Given the description of an element on the screen output the (x, y) to click on. 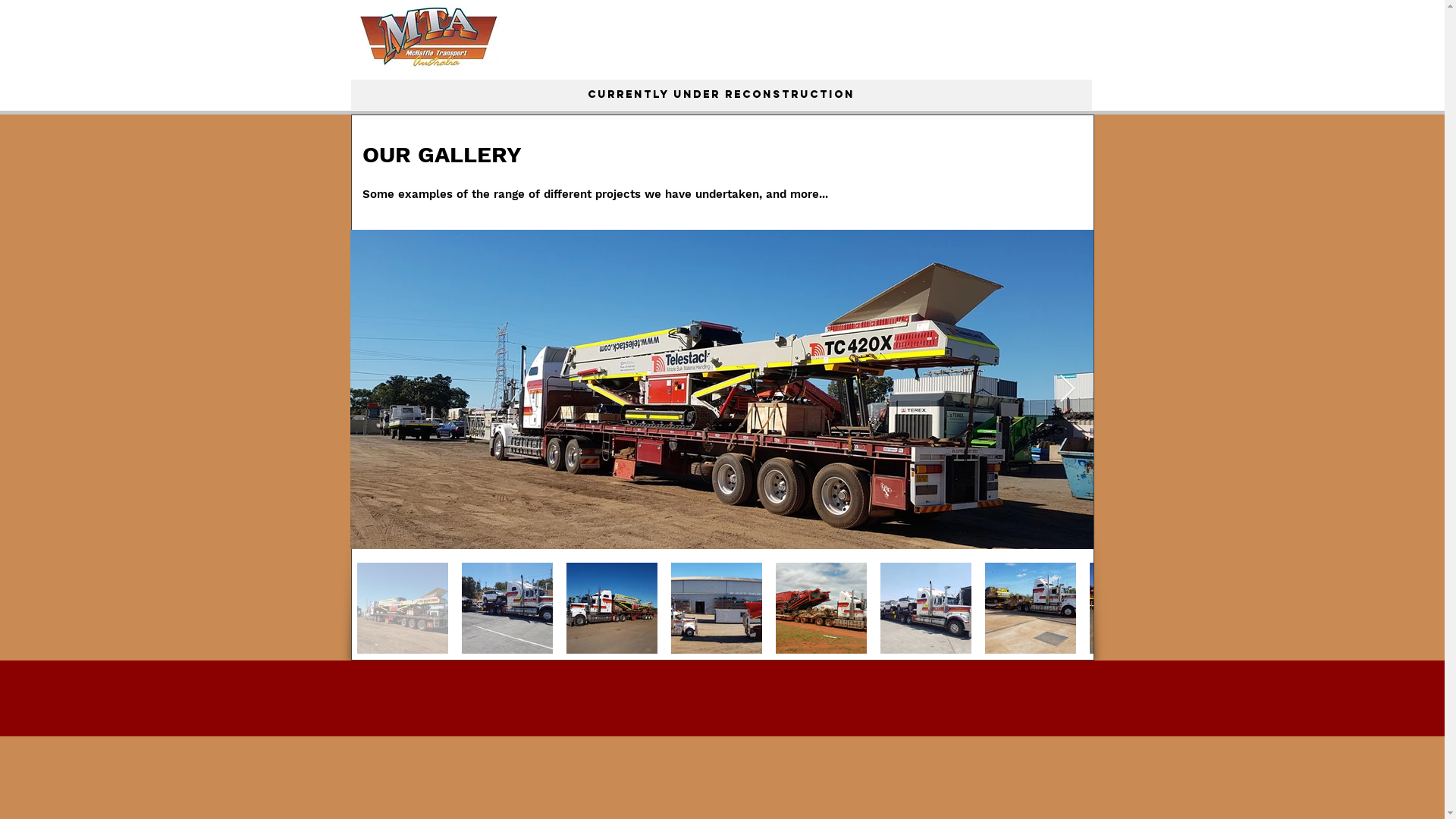
Currently Under Reconstruction Element type: text (720, 94)
